Given the description of an element on the screen output the (x, y) to click on. 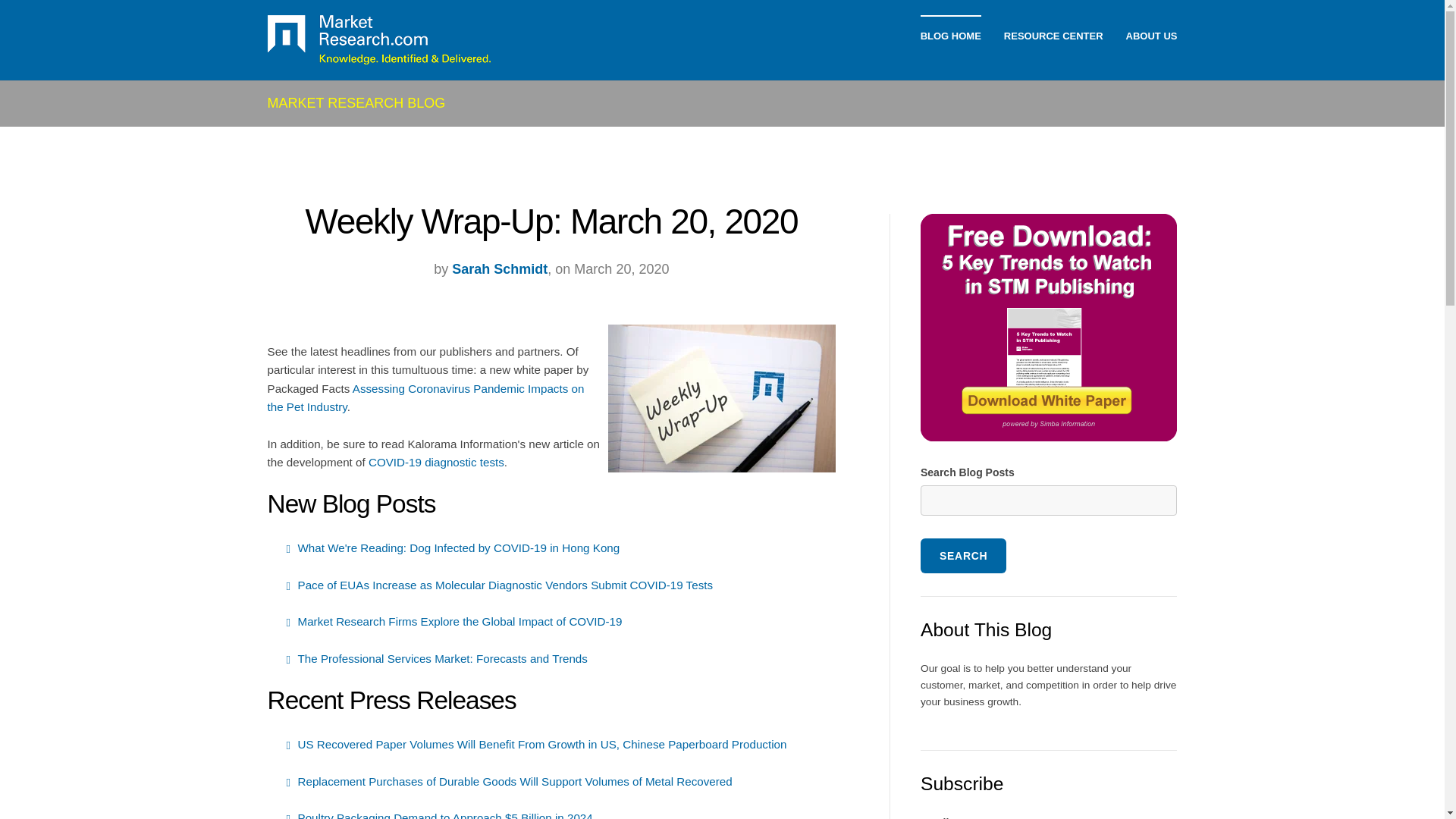
Market Research Firms Explore the Global Impact of COVID-19 (459, 621)
Assessing Coronavirus Pandemic Impacts on the Pet Industry (424, 397)
ABOUT US (1151, 35)
Sarah Schmidt (499, 268)
MARKET RESEARCH BLOG (355, 102)
The Professional Services Market: Forecasts and Trends (441, 658)
BLOG HOME (950, 35)
RESOURCE CENTER (1053, 35)
